Given the description of an element on the screen output the (x, y) to click on. 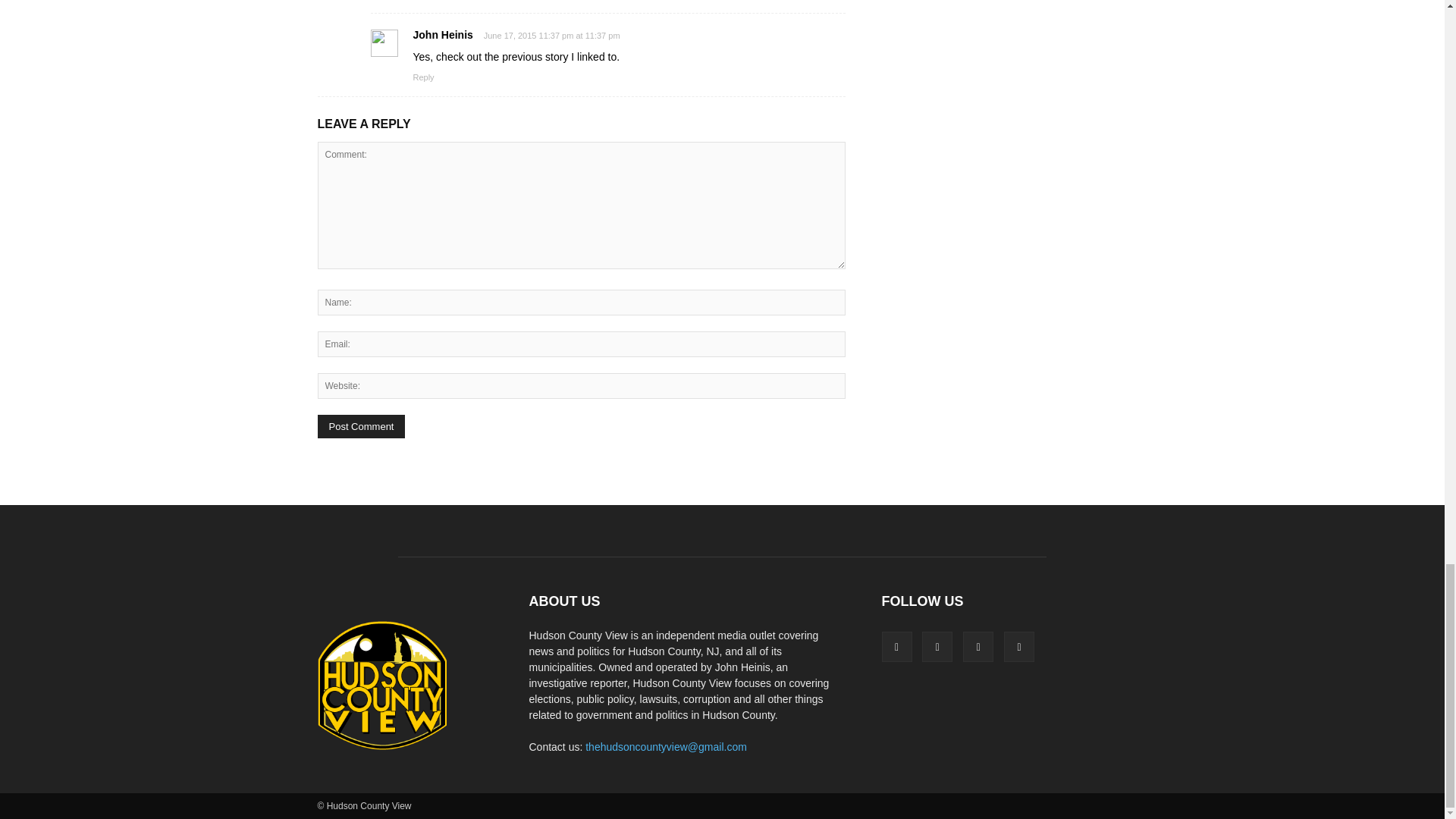
Post Comment (360, 426)
